Given the description of an element on the screen output the (x, y) to click on. 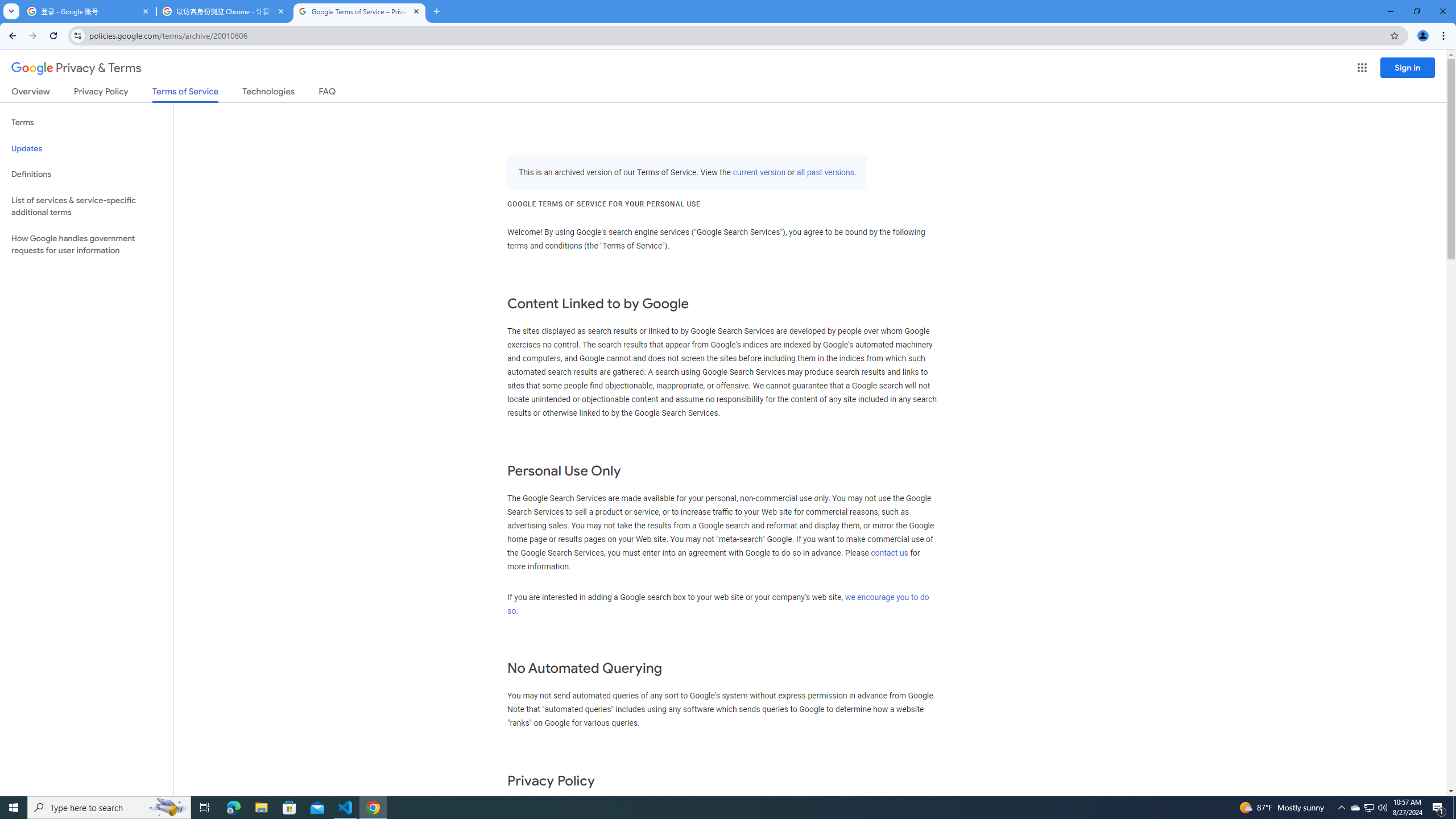
contact us (889, 552)
List of services & service-specific additional terms (86, 206)
